Given the description of an element on the screen output the (x, y) to click on. 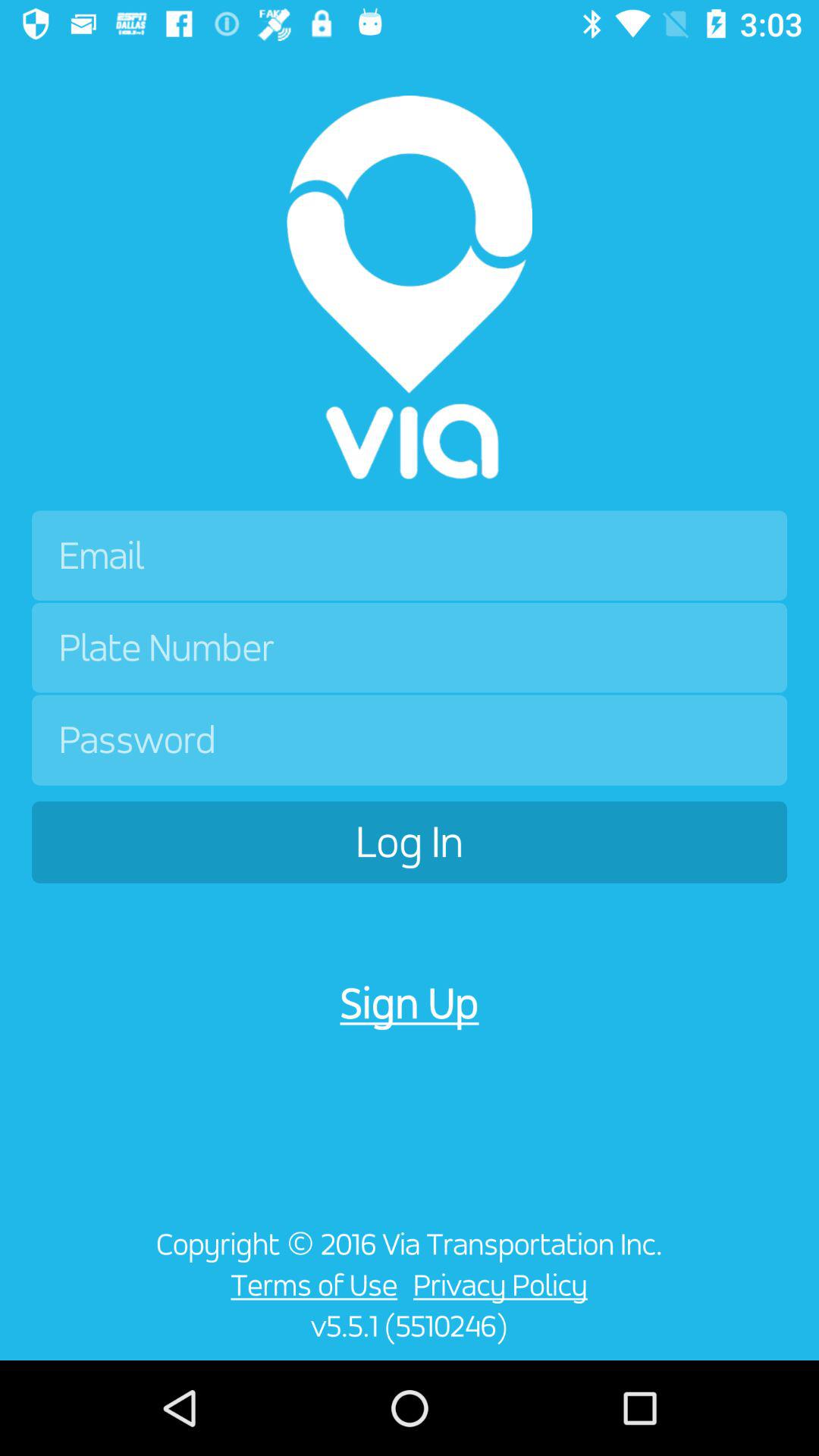
flip to the privacy policy (504, 1284)
